Given the description of an element on the screen output the (x, y) to click on. 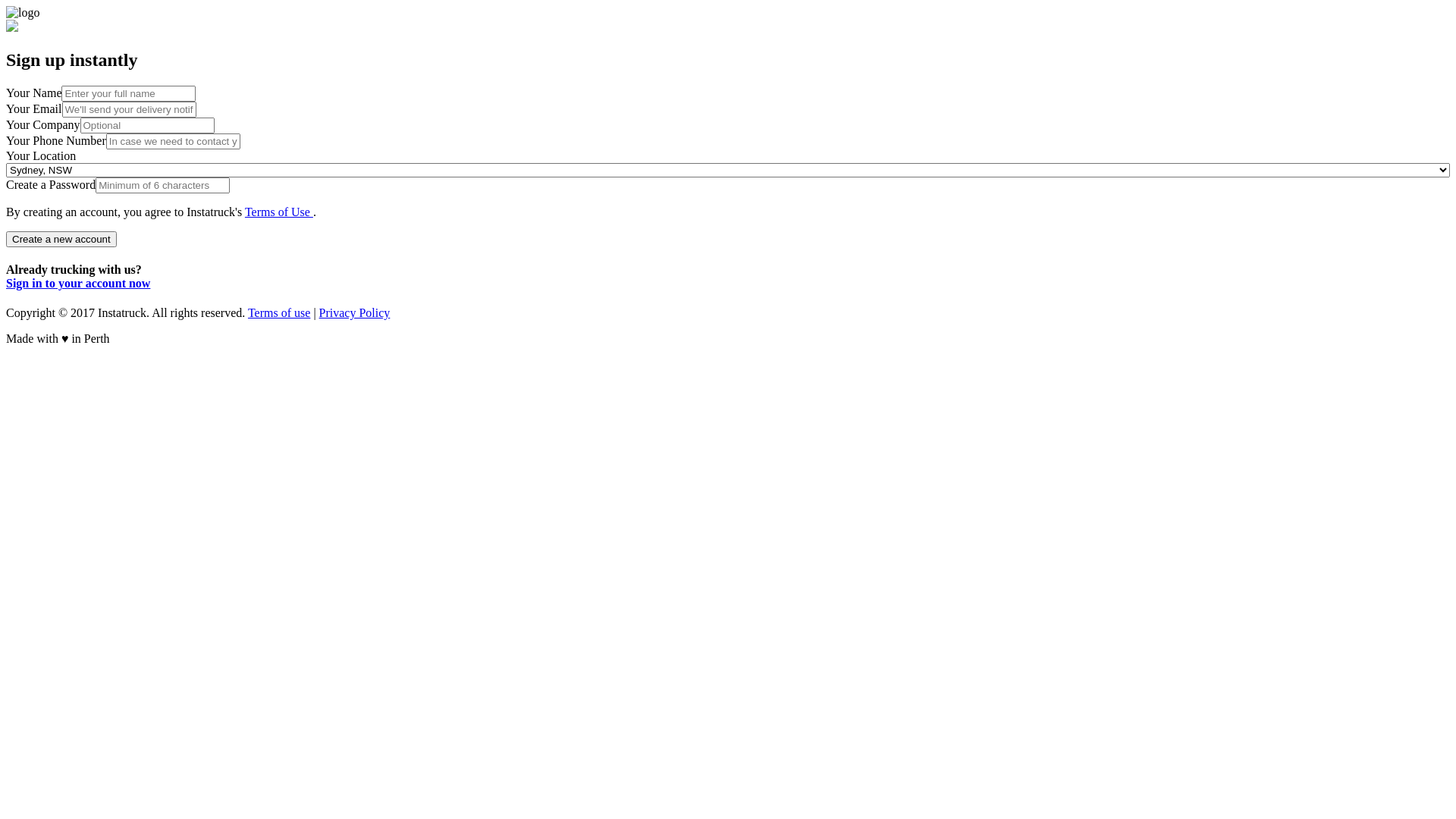
Terms of use Element type: text (278, 312)
Sign in to your account now Element type: text (78, 282)
Terms of Use Element type: text (278, 211)
Privacy Policy Element type: text (354, 312)
Create a new account Element type: text (61, 239)
